Given the description of an element on the screen output the (x, y) to click on. 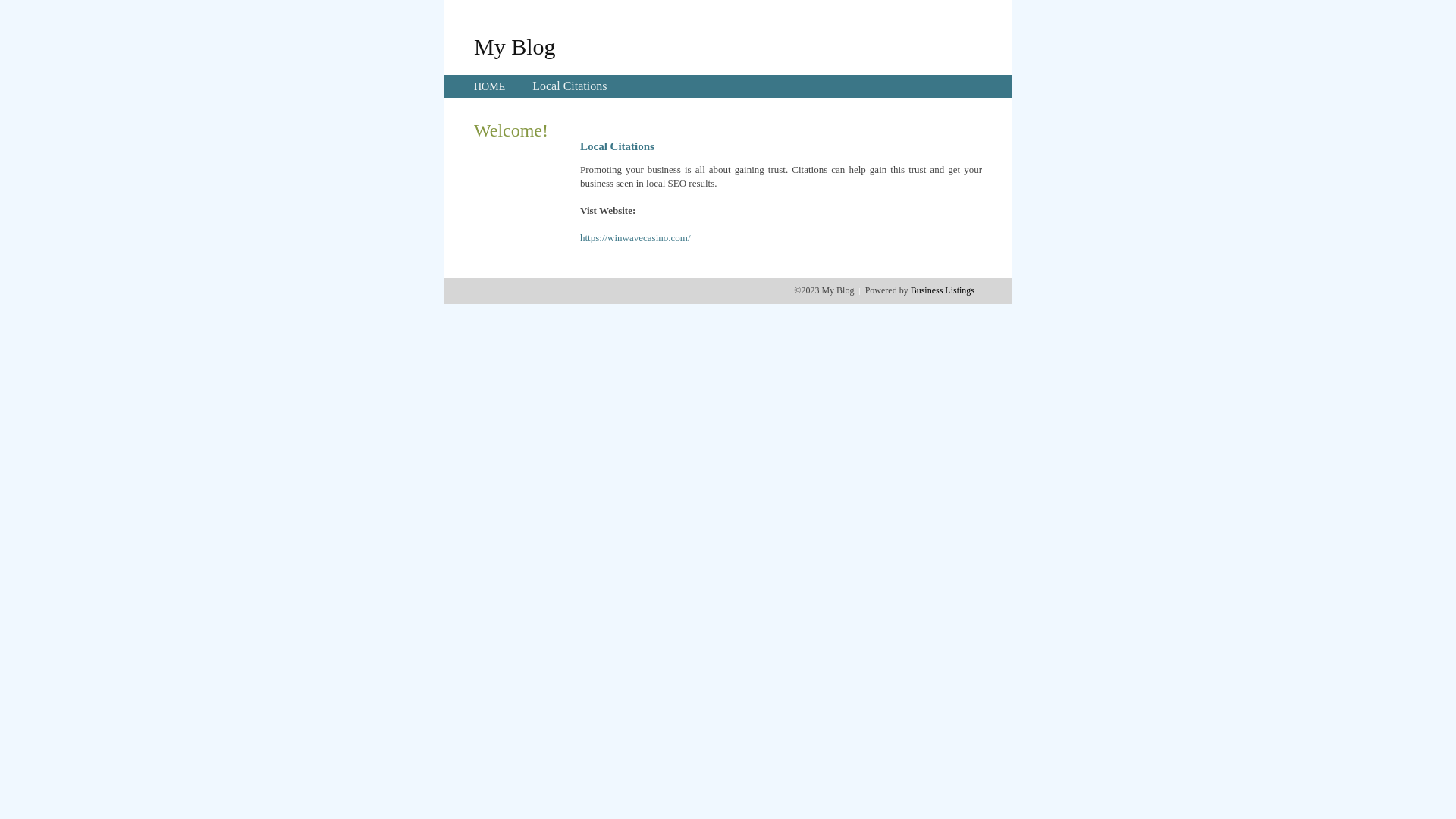
My Blog Element type: text (514, 46)
https://winwavecasino.com/ Element type: text (635, 237)
HOME Element type: text (489, 86)
Local Citations Element type: text (569, 85)
Business Listings Element type: text (942, 290)
